Given the description of an element on the screen output the (x, y) to click on. 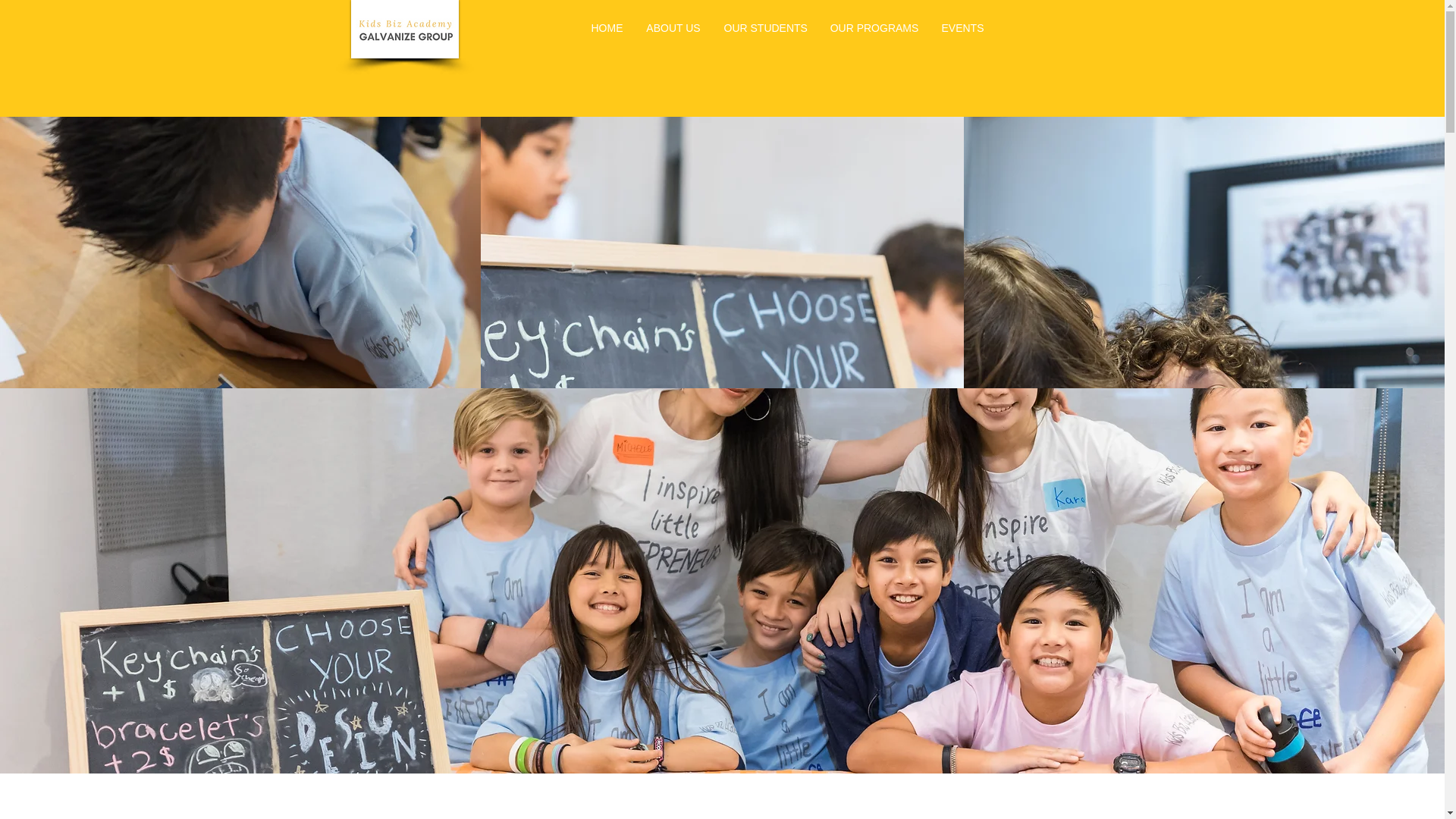
EVENTS (962, 27)
HOME (606, 27)
OUR PROGRAMS (874, 27)
